Given the description of an element on the screen output the (x, y) to click on. 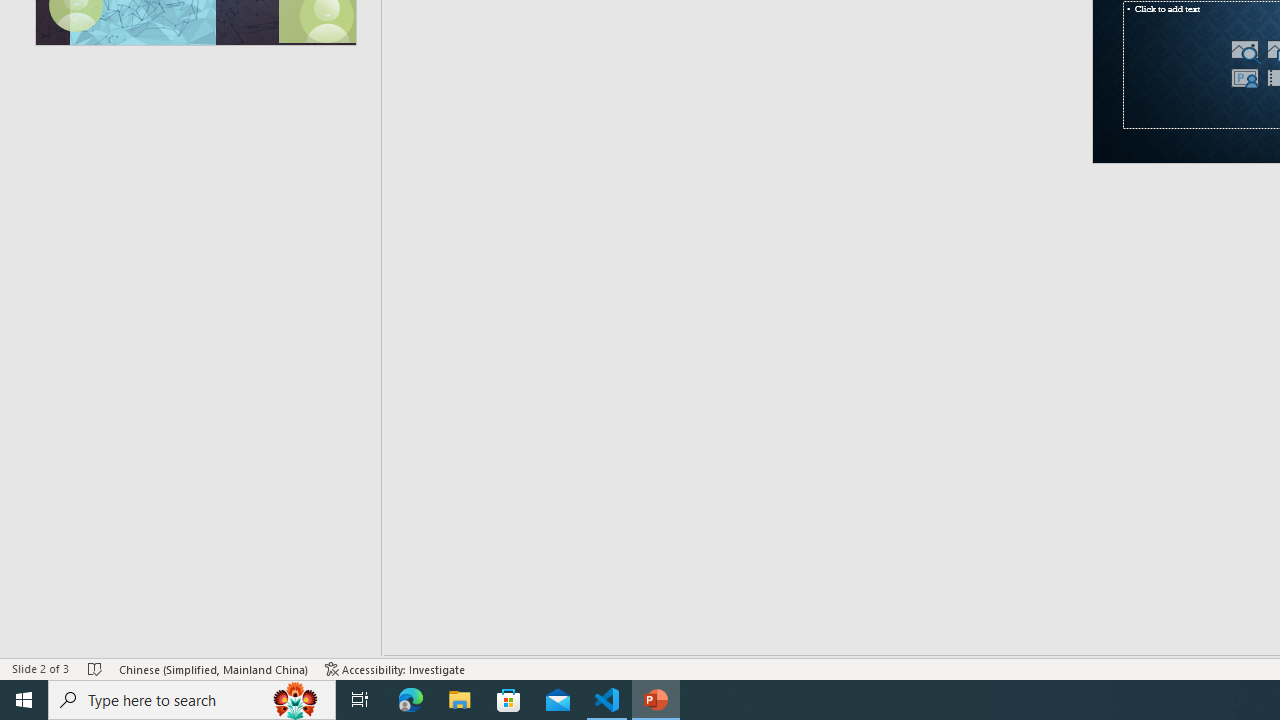
Insert Cameo (1244, 78)
Stock Images (1244, 50)
